Given the description of an element on the screen output the (x, y) to click on. 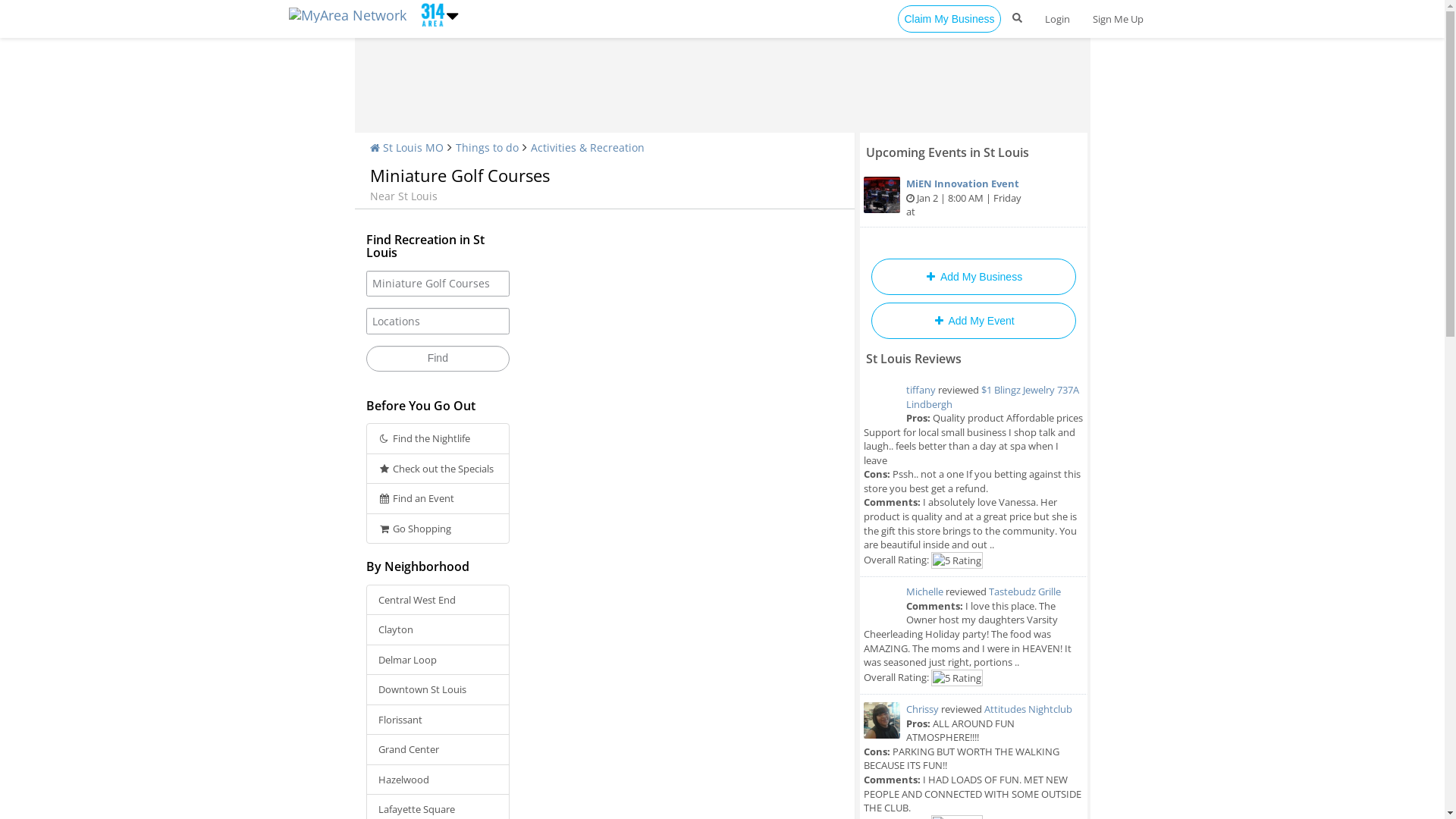
St Louis MO Element type: text (406, 147)
Claim My Business Element type: text (948, 18)
Delmar Loop Element type: text (437, 659)
Upcoming Events in St Louis Element type: text (947, 152)
Add My Event Element type: text (972, 320)
Grand Center Element type: text (437, 749)
https://www.314area.com Element type: hover (350, 13)
Michelle Element type: text (923, 591)
Florissant Element type: text (437, 719)
$1 Blingz Jewelry 737A Lindbergh Element type: text (991, 396)
Go Shopping Element type: text (437, 528)
Tastebudz Grille Element type: text (1024, 591)
Find an Event Element type: text (437, 498)
Clayton Element type: text (437, 629)
tiffany Element type: text (920, 389)
Check out the Specials Element type: text (437, 468)
Downtown St Louis Element type: text (437, 689)
Activities & Recreation Element type: text (587, 147)
Find Element type: text (437, 358)
https://www.314area.com Element type: hover (428, 13)
Central West End Element type: text (437, 599)
Hazelwood Element type: text (437, 779)
Find the Nightlife Element type: text (437, 438)
MiEN Innovation Event
Jan 2 | 8:00 AM | Friday
at Element type: text (973, 198)
Things to do Element type: text (486, 147)
St Louis Reviews Element type: text (913, 358)
Sign Me Up Element type: text (1117, 18)
Login Element type: text (1056, 18)
Attitudes Nightclub Element type: text (1028, 708)
Chrissy Element type: text (921, 708)
Add My Business Element type: text (972, 276)
